Given the description of an element on the screen output the (x, y) to click on. 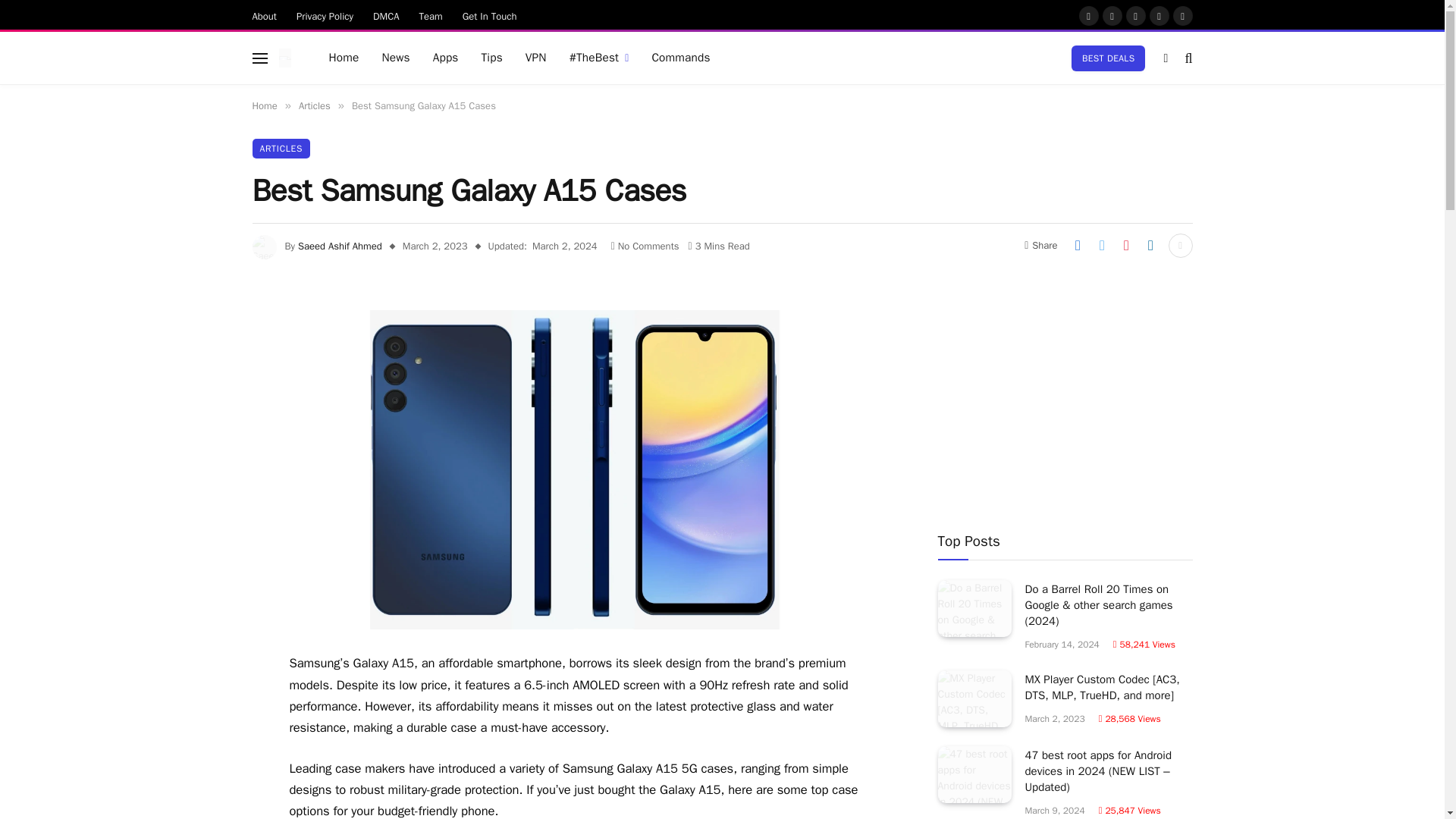
Home (343, 57)
About (264, 15)
News (394, 57)
DMCA (385, 15)
Facebook (1087, 15)
Get In Touch (489, 15)
Apps (446, 57)
Posts by Saeed Ashif Ahmed (339, 245)
RSS (1182, 15)
BEST DEALS (1108, 58)
